Given the description of an element on the screen output the (x, y) to click on. 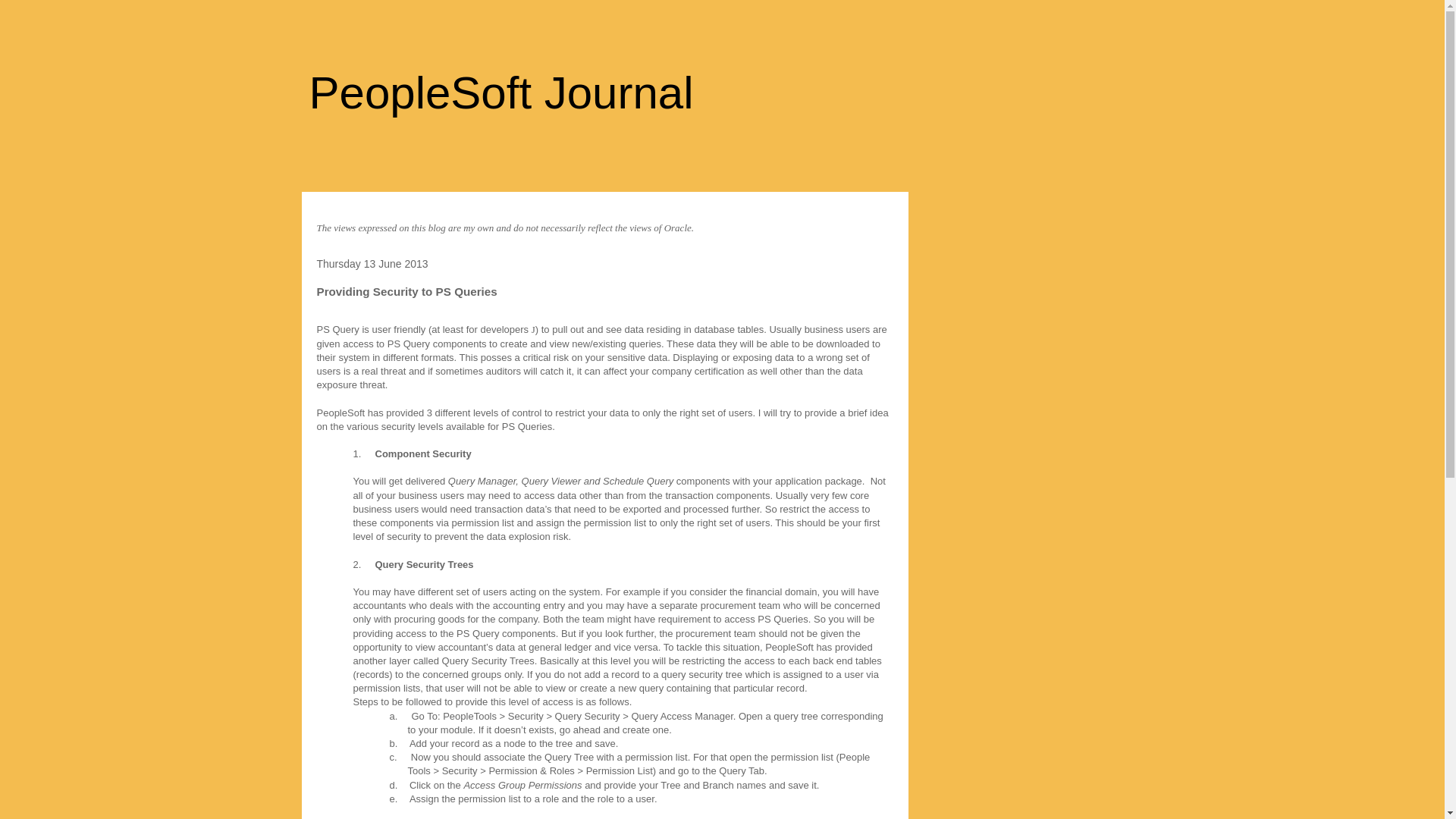
PeopleSoft Journal (501, 92)
